Given the description of an element on the screen output the (x, y) to click on. 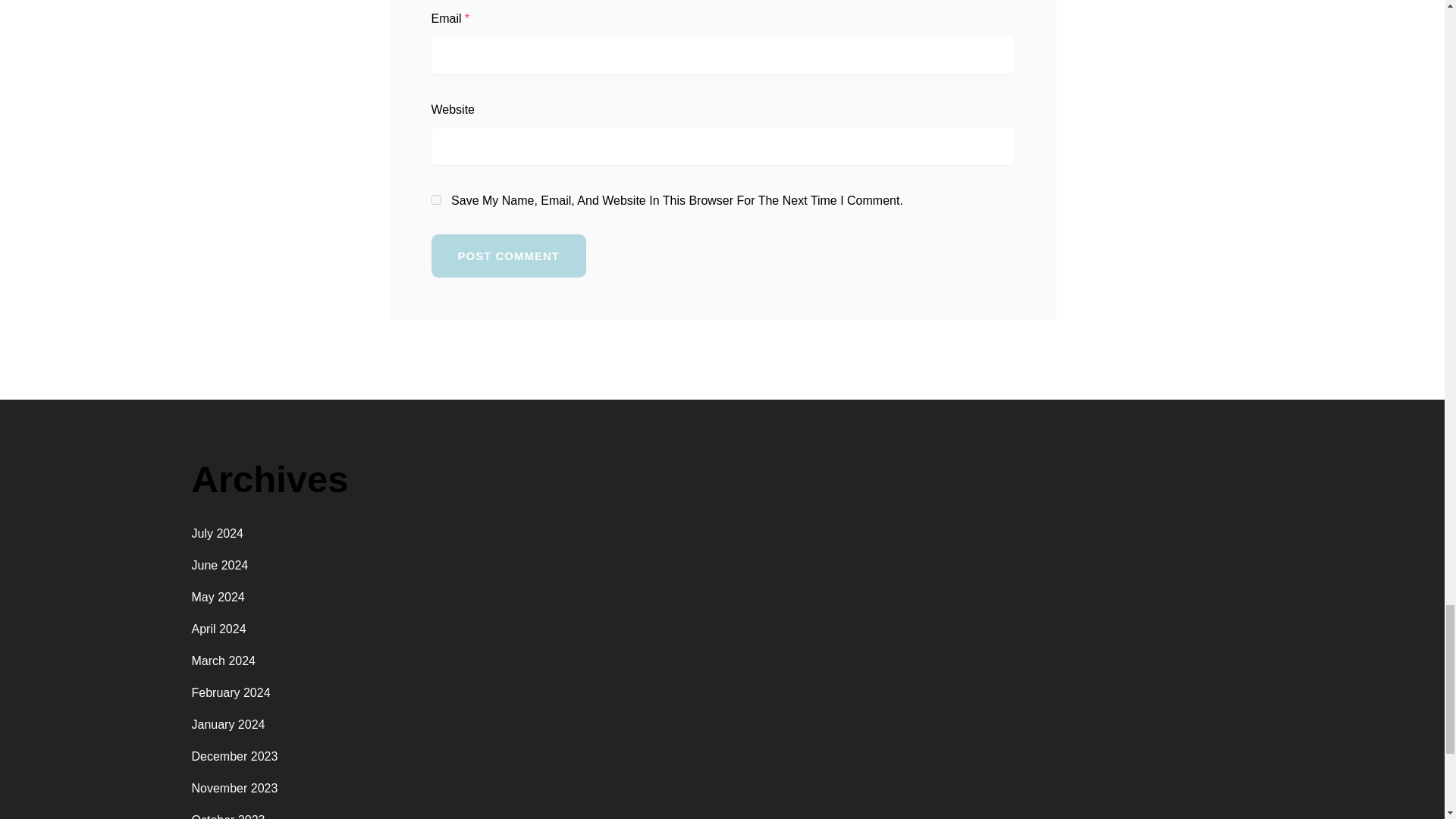
yes (435, 199)
Post Comment (508, 255)
April 2024 (218, 628)
June 2024 (218, 564)
July 2024 (216, 533)
January 2024 (227, 724)
February 2024 (229, 692)
December 2023 (234, 756)
May 2024 (217, 596)
November 2023 (234, 788)
October 2023 (227, 816)
March 2024 (223, 660)
Post Comment (508, 255)
